Given the description of an element on the screen output the (x, y) to click on. 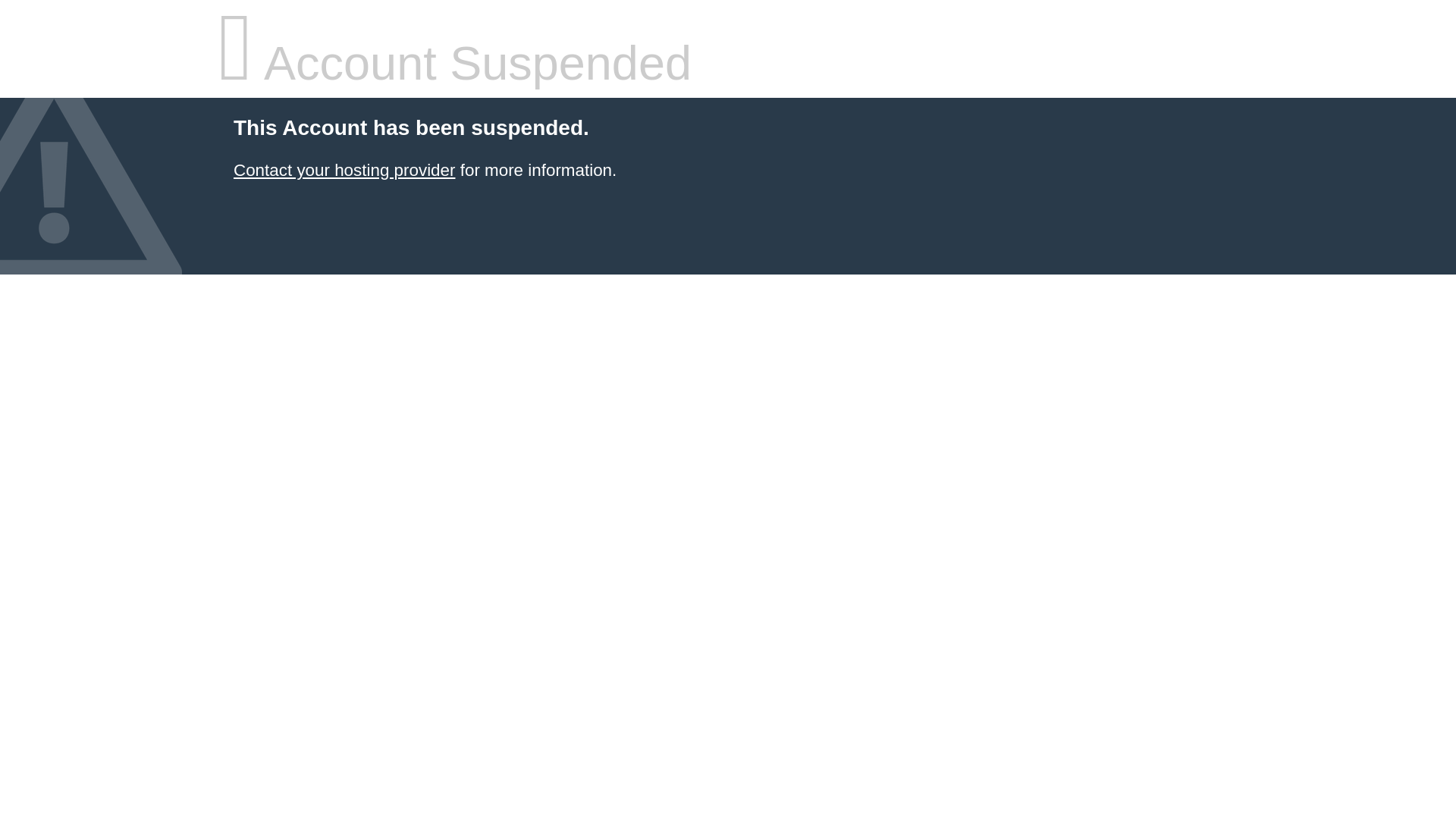
Contact your hosting provider (343, 169)
